Given the description of an element on the screen output the (x, y) to click on. 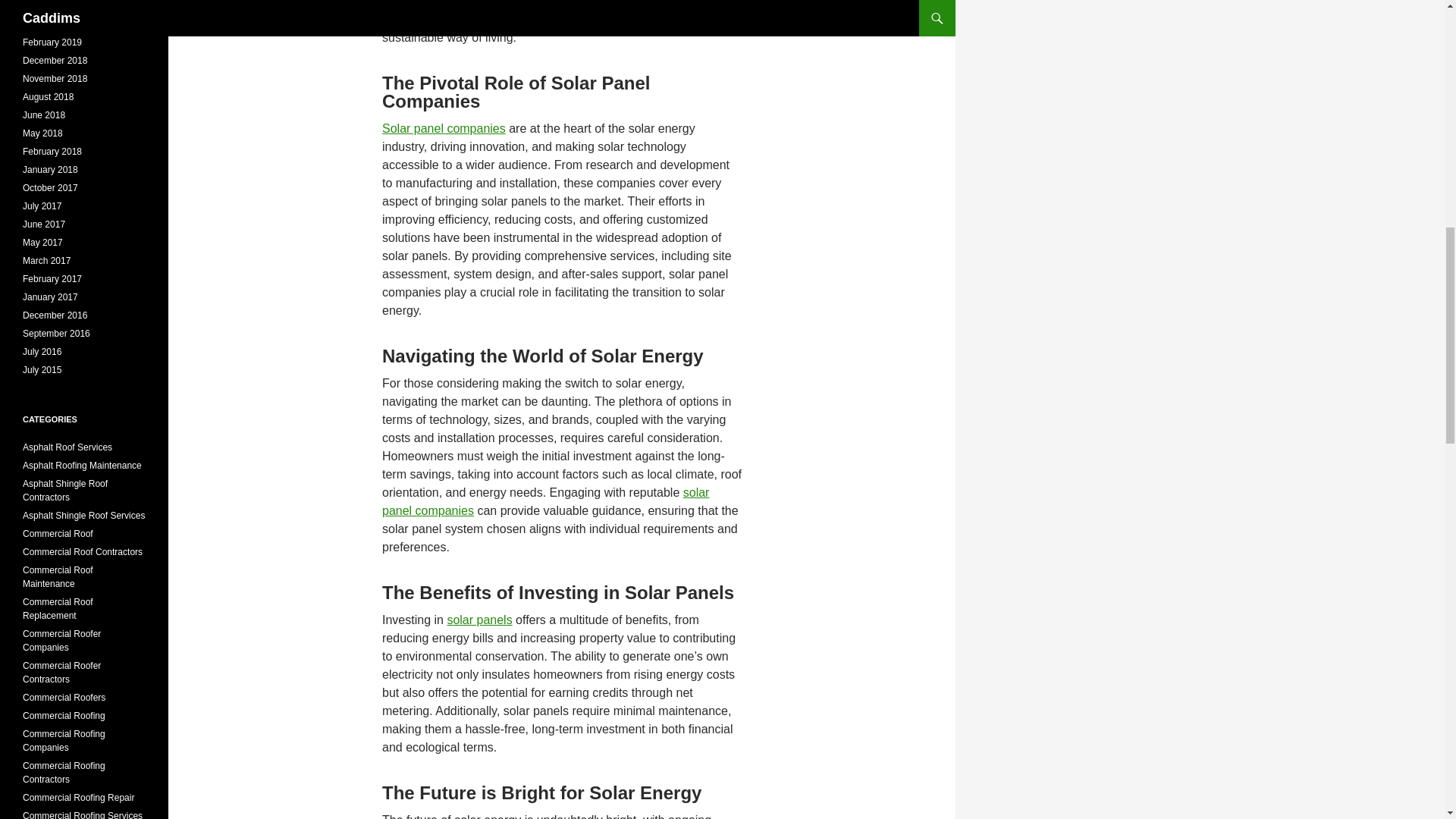
solar panels (479, 619)
solar panel companies (545, 501)
Solar panel companies (443, 128)
